Given the description of an element on the screen output the (x, y) to click on. 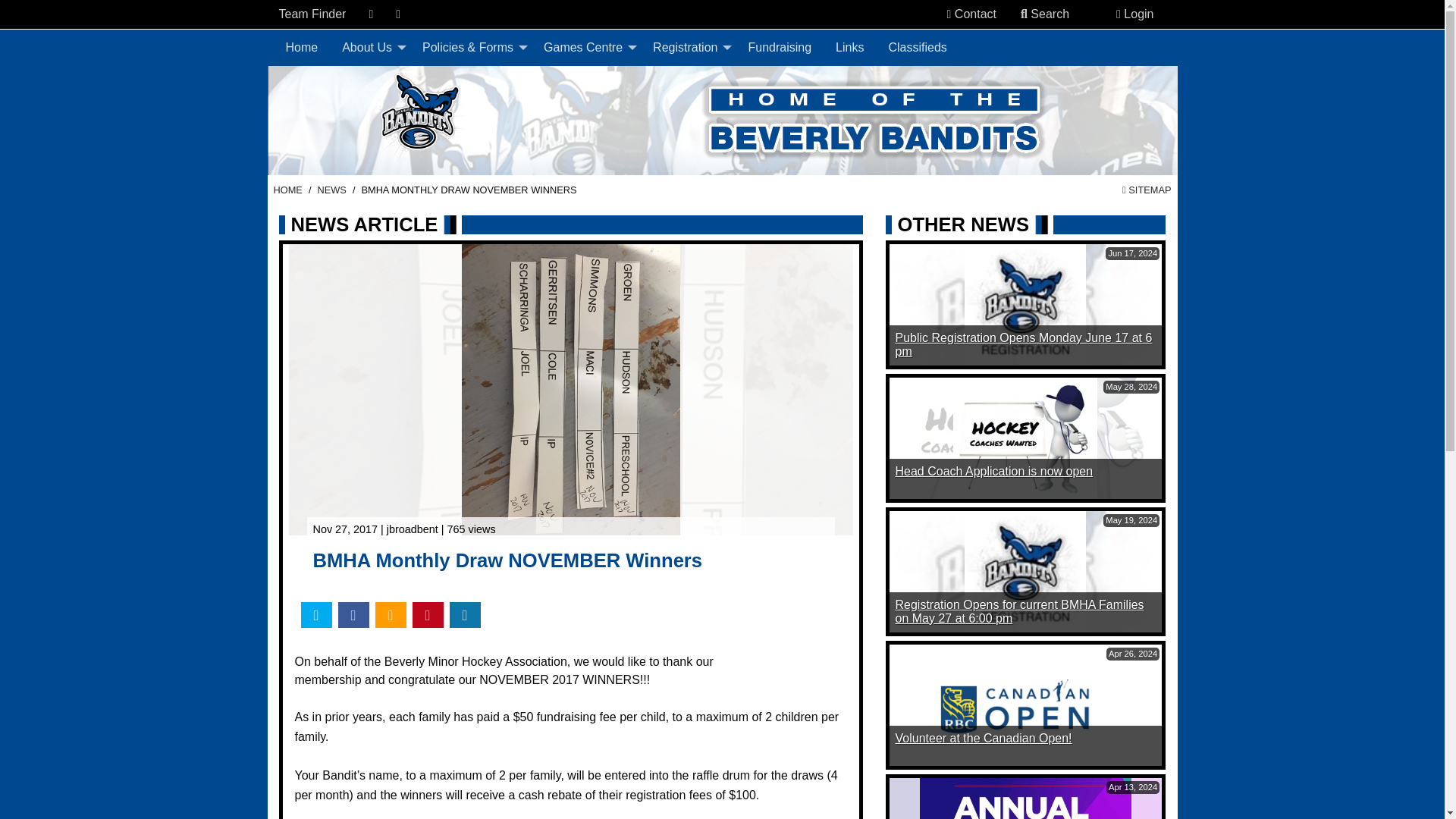
Go to the sitemap page for this website (1146, 189)
List of News (331, 189)
Contacts (949, 14)
Main Home Page (287, 189)
 Search (1045, 14)
 Login (1134, 14)
Team Finder (312, 13)
read more of this item (1023, 344)
 Contact (971, 14)
Home (301, 47)
Facebook (370, 14)
Games Centre (585, 47)
Search (1023, 14)
Instagram (398, 14)
About Us (370, 47)
